Given the description of an element on the screen output the (x, y) to click on. 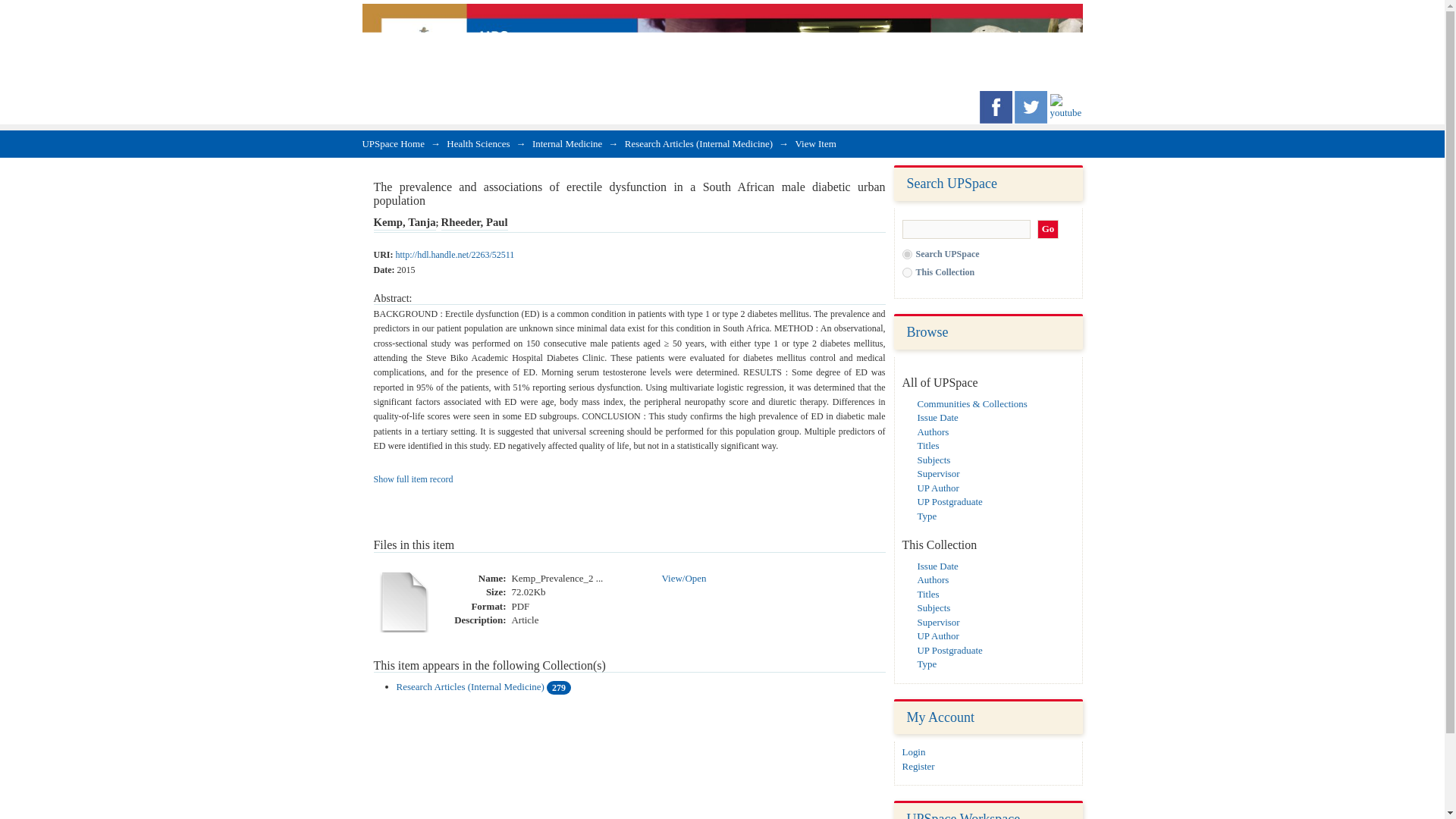
Titles (928, 593)
UP Postgraduate (949, 501)
Go (1047, 229)
Type (927, 663)
UP Author (938, 487)
Issue Date (937, 565)
Issue Date (937, 417)
Authors (933, 579)
UP Postgraduate (949, 650)
Login (914, 751)
Article (524, 620)
UPSpace Home (393, 143)
Internal Medicine (567, 143)
Supervisor (938, 473)
UPSpace Workspace (963, 815)
